Given the description of an element on the screen output the (x, y) to click on. 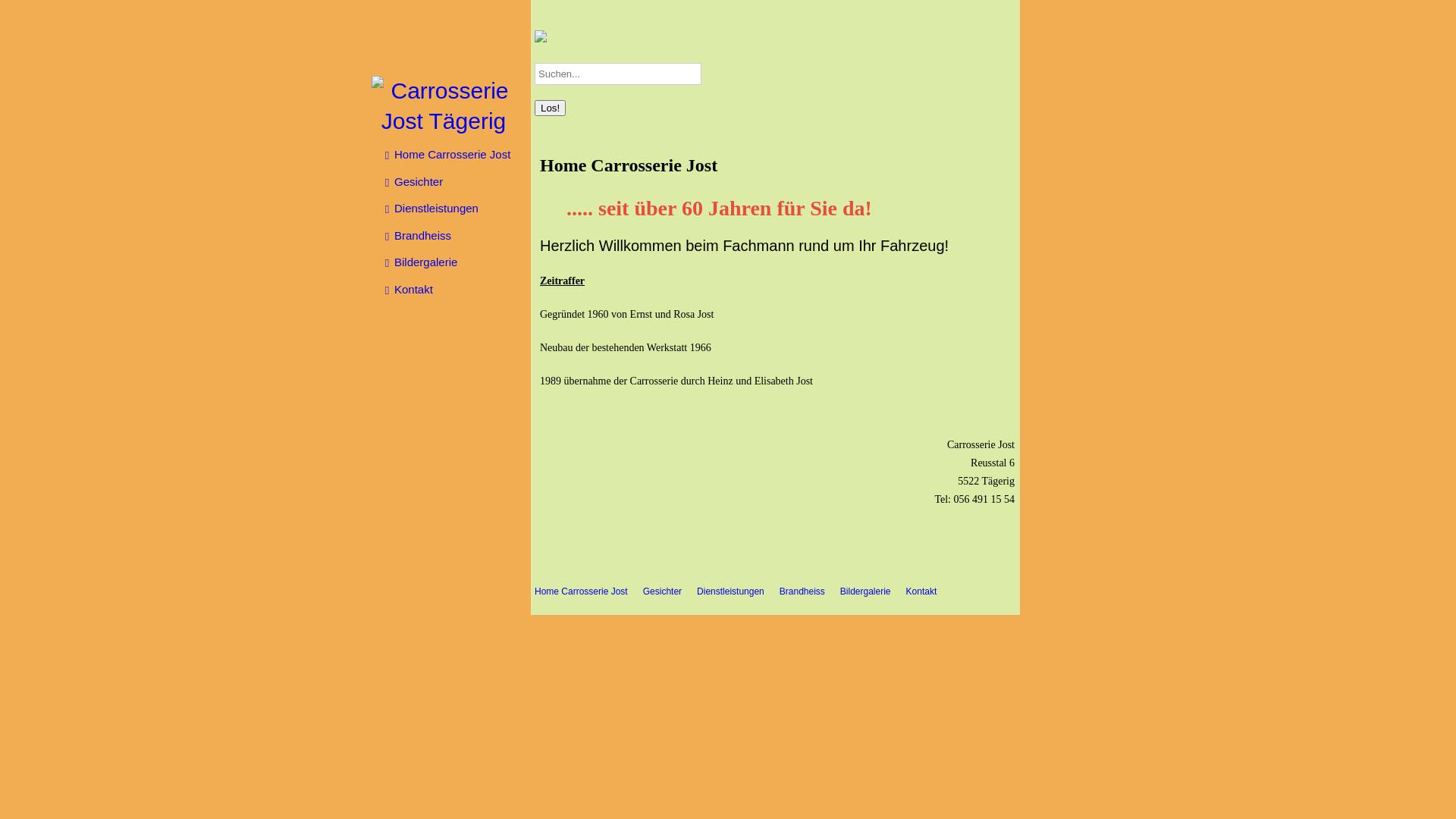
Kontakt Element type: text (921, 591)
Brandheiss Element type: text (450, 234)
Kontakt Element type: text (450, 289)
Home Carrosserie Jost Element type: text (580, 591)
Bildergalerie Element type: text (450, 262)
Gesichter Element type: text (450, 181)
Gesichter Element type: text (662, 591)
Los! Element type: text (549, 108)
Dienstleistungen Element type: text (730, 591)
Dienstleistungen Element type: text (450, 208)
Brandheiss Element type: text (802, 591)
Home Carrosserie Jost Element type: text (450, 154)
Bildergalerie Element type: text (865, 591)
